Given the description of an element on the screen output the (x, y) to click on. 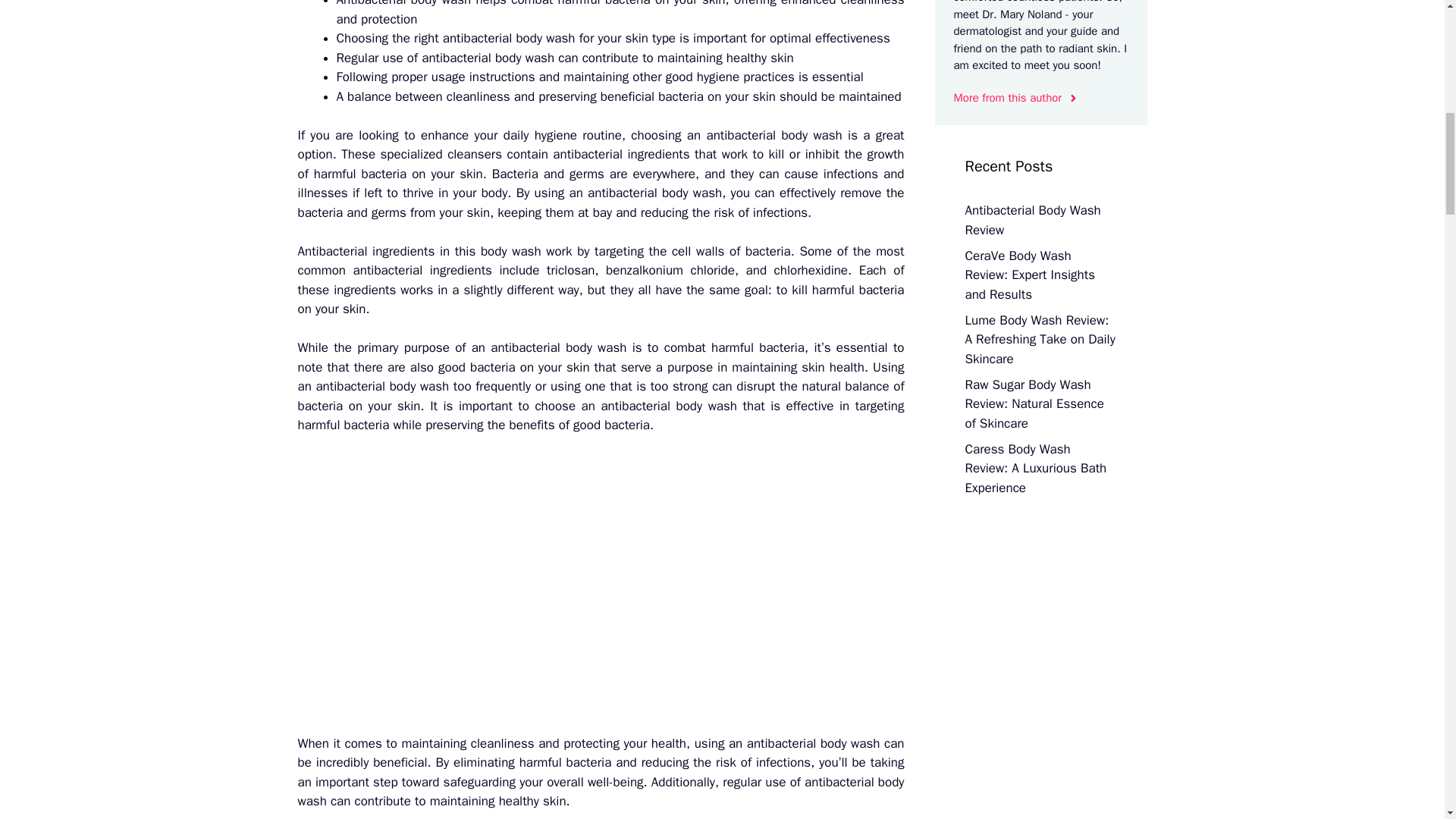
More from this author (1015, 98)
antibacterial ingredients germs on skin (600, 584)
CeraVe Body Wash Review: Expert Insights and Results (1028, 275)
Caress Body Wash Review: A Luxurious Bath Experience (1034, 468)
Lume Body Wash Review: A Refreshing Take on Daily Skincare (1039, 339)
Antibacterial Body Wash Review (1031, 220)
Raw Sugar Body Wash Review: Natural Essence of Skincare (1033, 403)
